Given the description of an element on the screen output the (x, y) to click on. 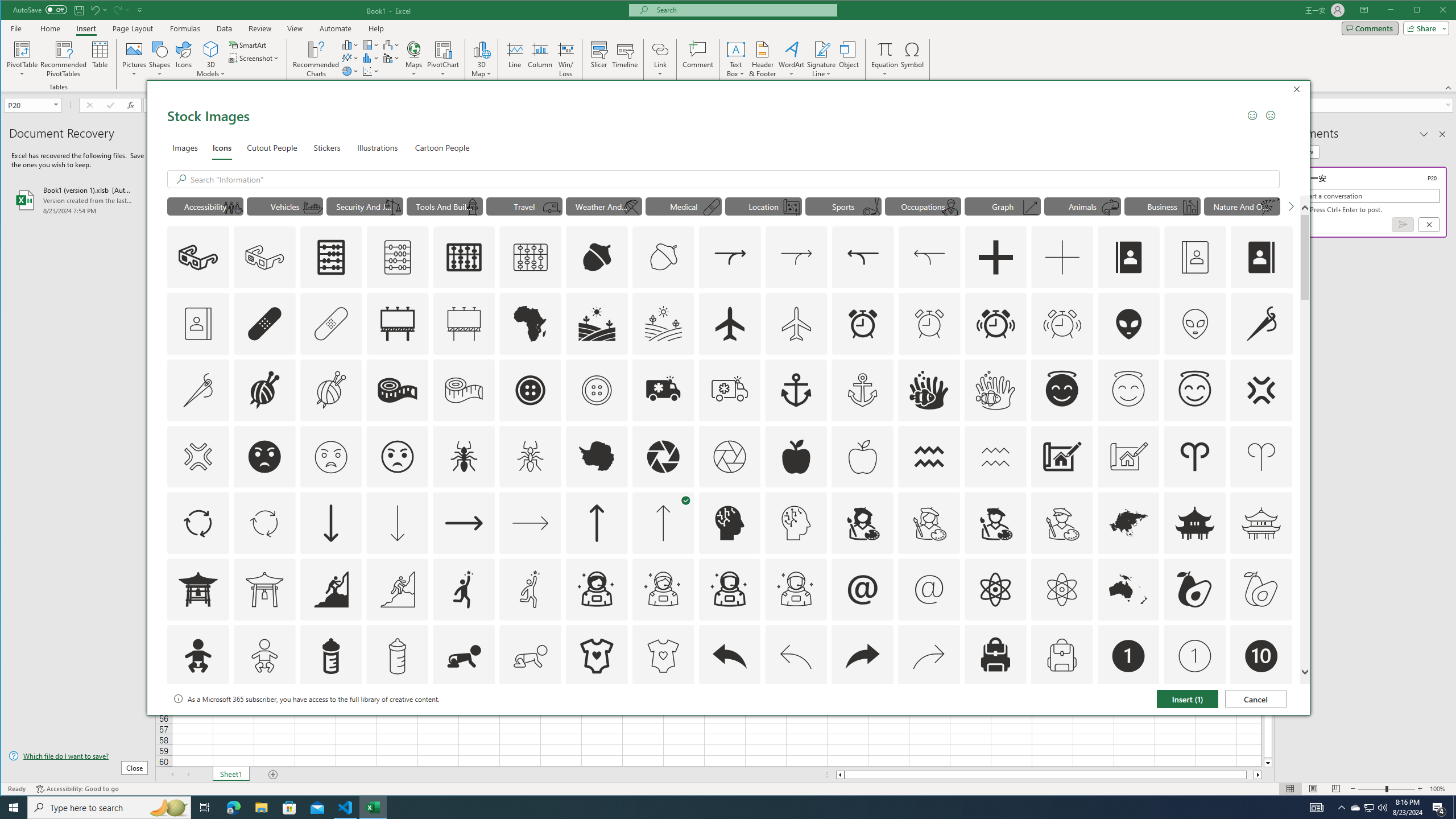
AutomationID: Icons_Back_RTL (863, 655)
AutomationID: Icons_JudgeMale_M (950, 207)
"Tools And Building" Icons. (444, 206)
AutomationID: Icons_Dandelion_M (1269, 207)
AutomationID: Icons_AstronautFemale (596, 589)
SmartArt... (248, 44)
AutomationID: Icons_BabyCrawling_M (530, 655)
AutomationID: Icons_Antarctica (596, 456)
Post comment (Ctrl + Enter) (1402, 224)
AutomationID: Icons_Abacus1 (464, 256)
Icons (183, 59)
AutomationID: Icons_BeachUmbrella_M (631, 207)
Q2790: 100% (1382, 807)
